Given the description of an element on the screen output the (x, y) to click on. 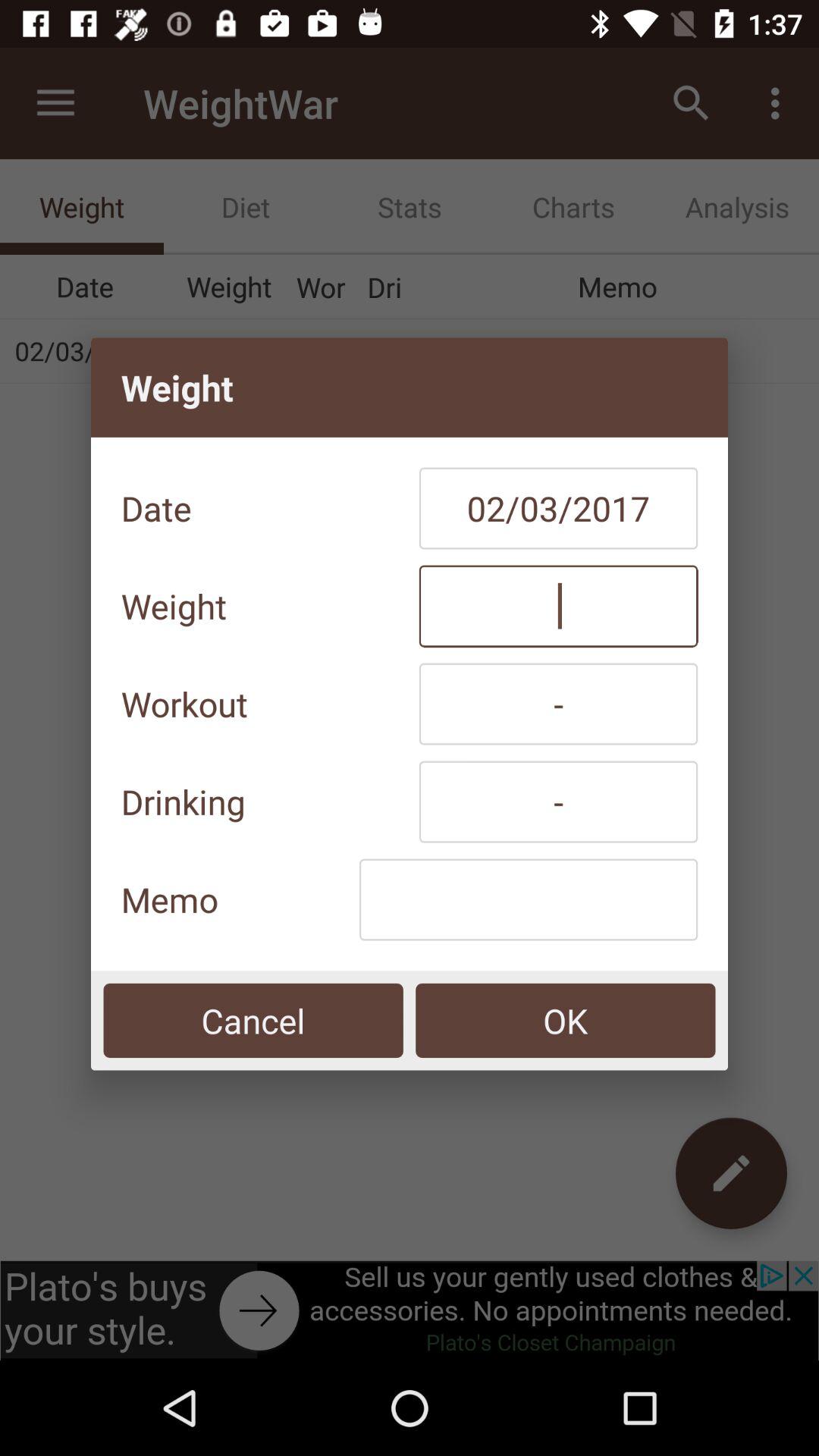
click the item at the bottom left corner (253, 1020)
